Given the description of an element on the screen output the (x, y) to click on. 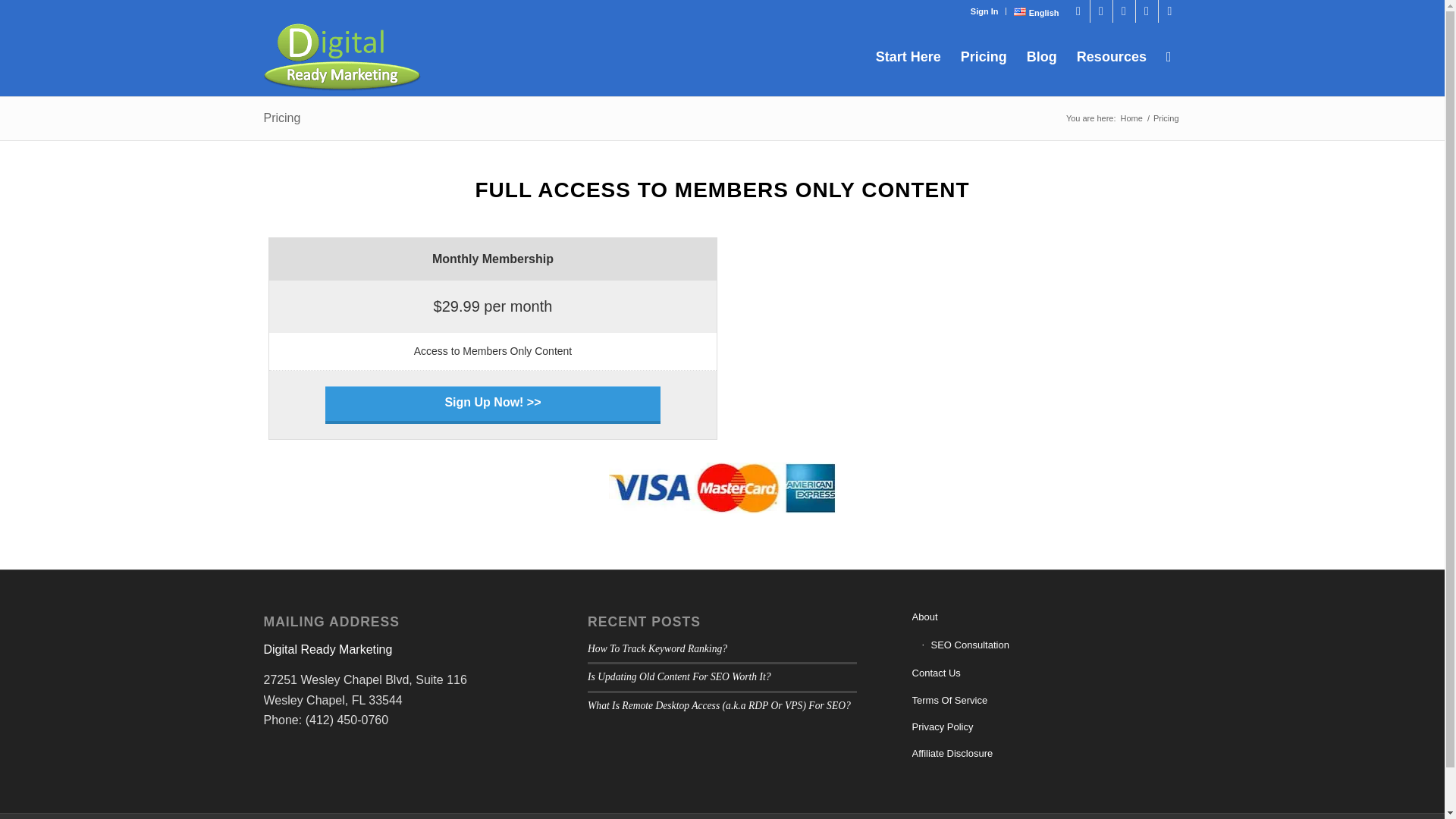
Resources (1111, 56)
Digital Ready Marketing (1131, 118)
Twitter (1078, 11)
Is Updating Old Content For SEO Worth It? (679, 676)
Drm-paypal1 (344, 56)
Start Here (908, 56)
Privacy Policy (1046, 727)
LinkedIn (1146, 11)
English (1035, 12)
Sign In (984, 11)
